Given the description of an element on the screen output the (x, y) to click on. 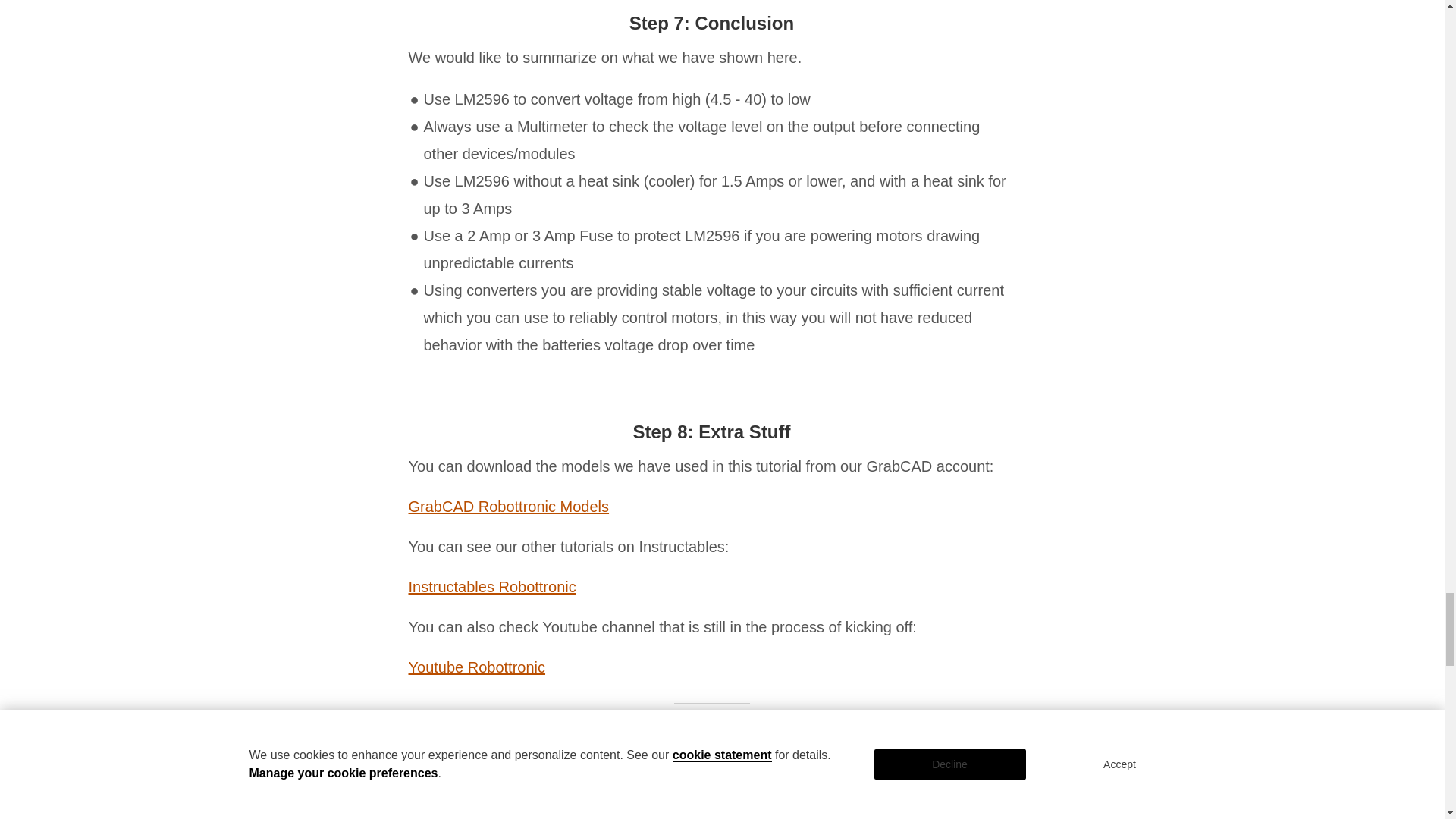
Instructables Robottronic (491, 586)
GrabCAD Robottronic Models (507, 506)
Youtube Robottronic (475, 667)
